Given the description of an element on the screen output the (x, y) to click on. 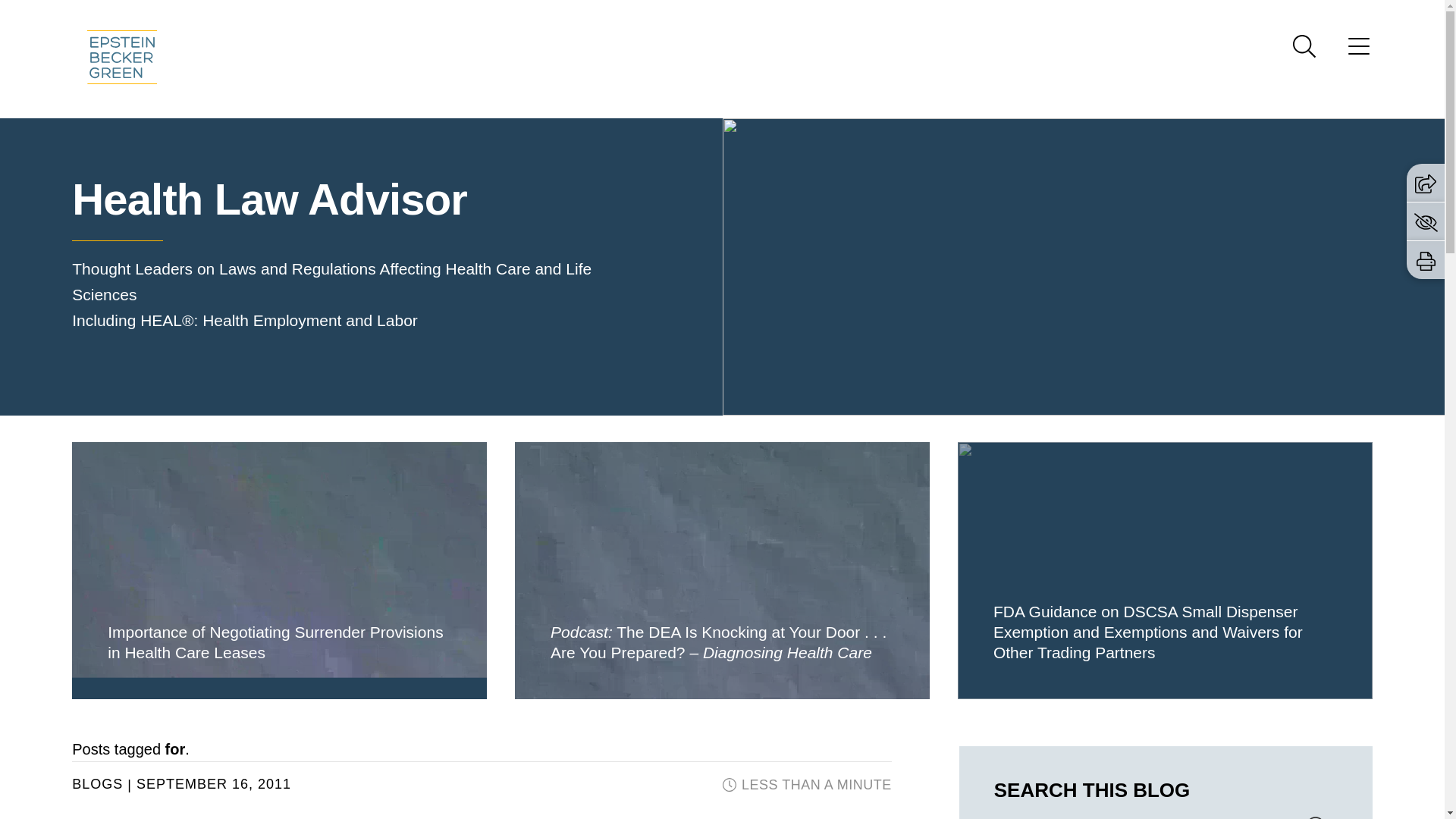
Share (1425, 183)
CLOCK (729, 784)
Print (1425, 261)
Main Content (666, 15)
Menu (673, 15)
Main Menu (673, 15)
Search (1304, 46)
Go to the privacy settings (1425, 221)
Menu (1359, 51)
Share (1425, 182)
